Given the description of an element on the screen output the (x, y) to click on. 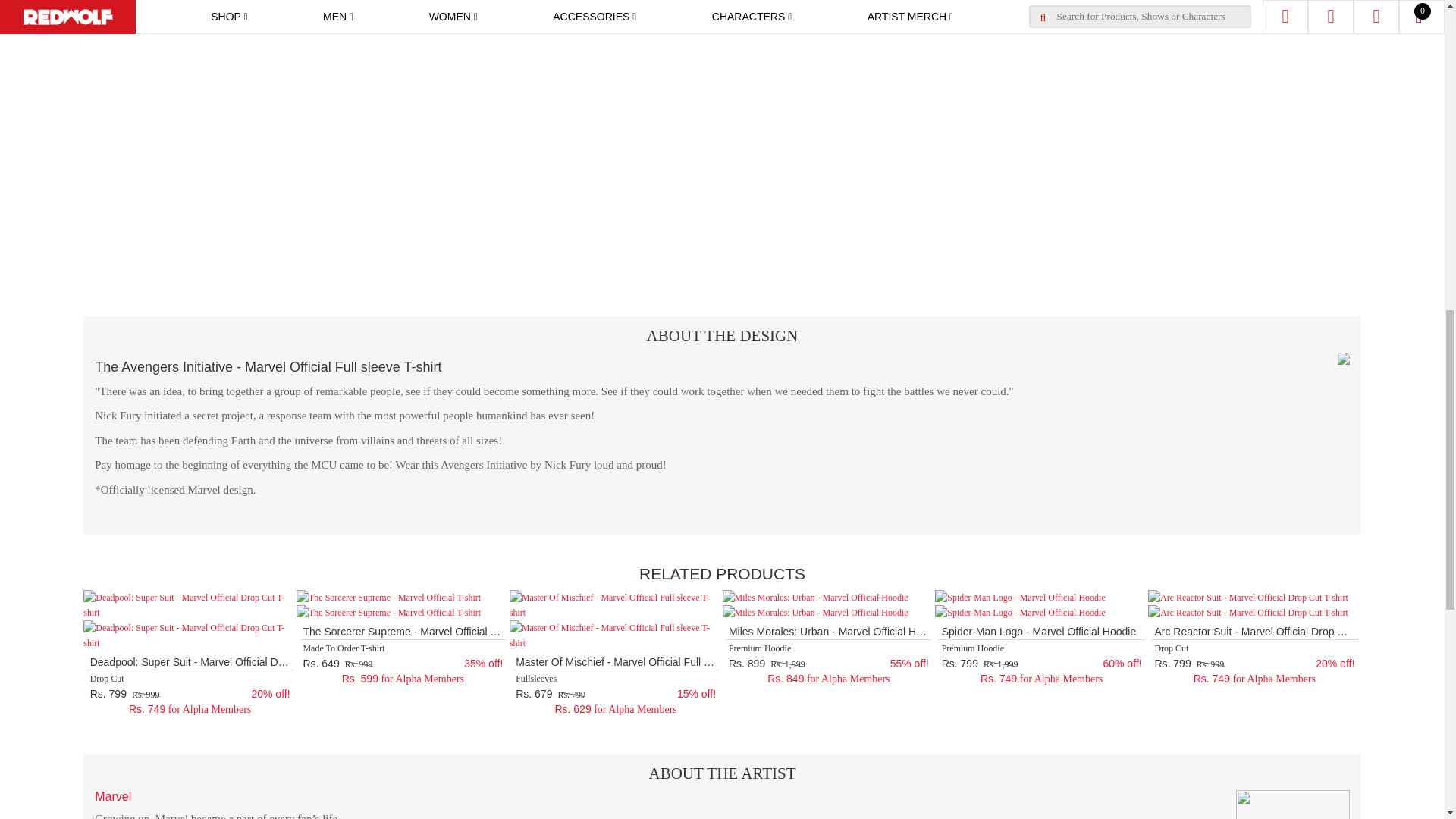
Arc Reactor Suit - Marvel Official Drop Cut T-shirt (1248, 597)
Master Of Mischief - Marvel Official Full sleeve T-shirt (615, 604)
Spider-Man Logo - Marvel Official Hoodie (1019, 597)
Deadpool: Super Suit - Marvel Official Drop Cut T-shirt (189, 604)
Miles Morales: Urban - Marvel Official Hoodie (814, 597)
The Sorcerer Supreme - Marvel Official T-shirt (388, 597)
